Given the description of an element on the screen output the (x, y) to click on. 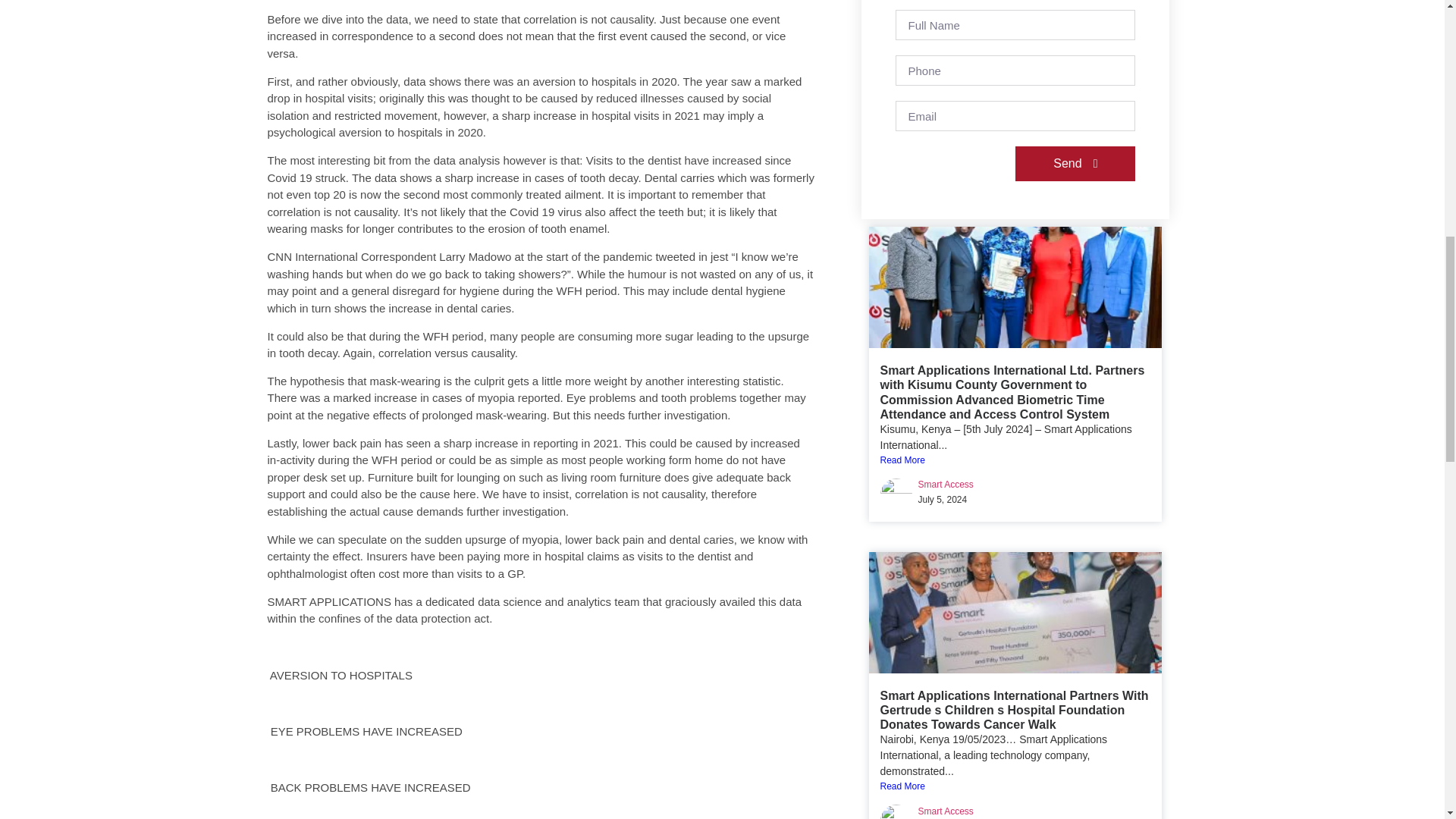
Posts by Smart Access (944, 810)
Posts by Smart Access (944, 484)
